Given the description of an element on the screen output the (x, y) to click on. 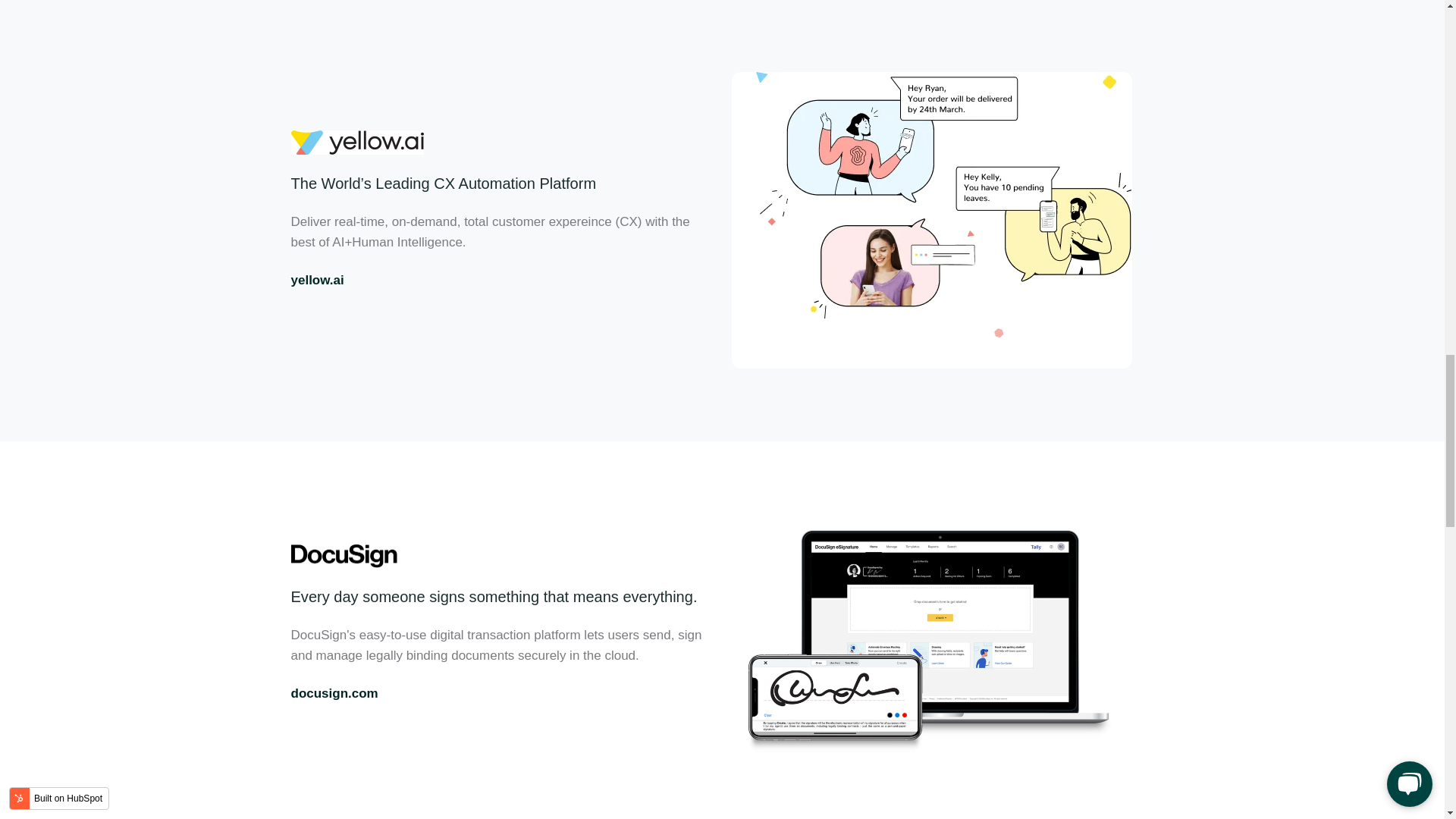
docusign.com (334, 693)
yellow.ai (317, 279)
